Given the description of an element on the screen output the (x, y) to click on. 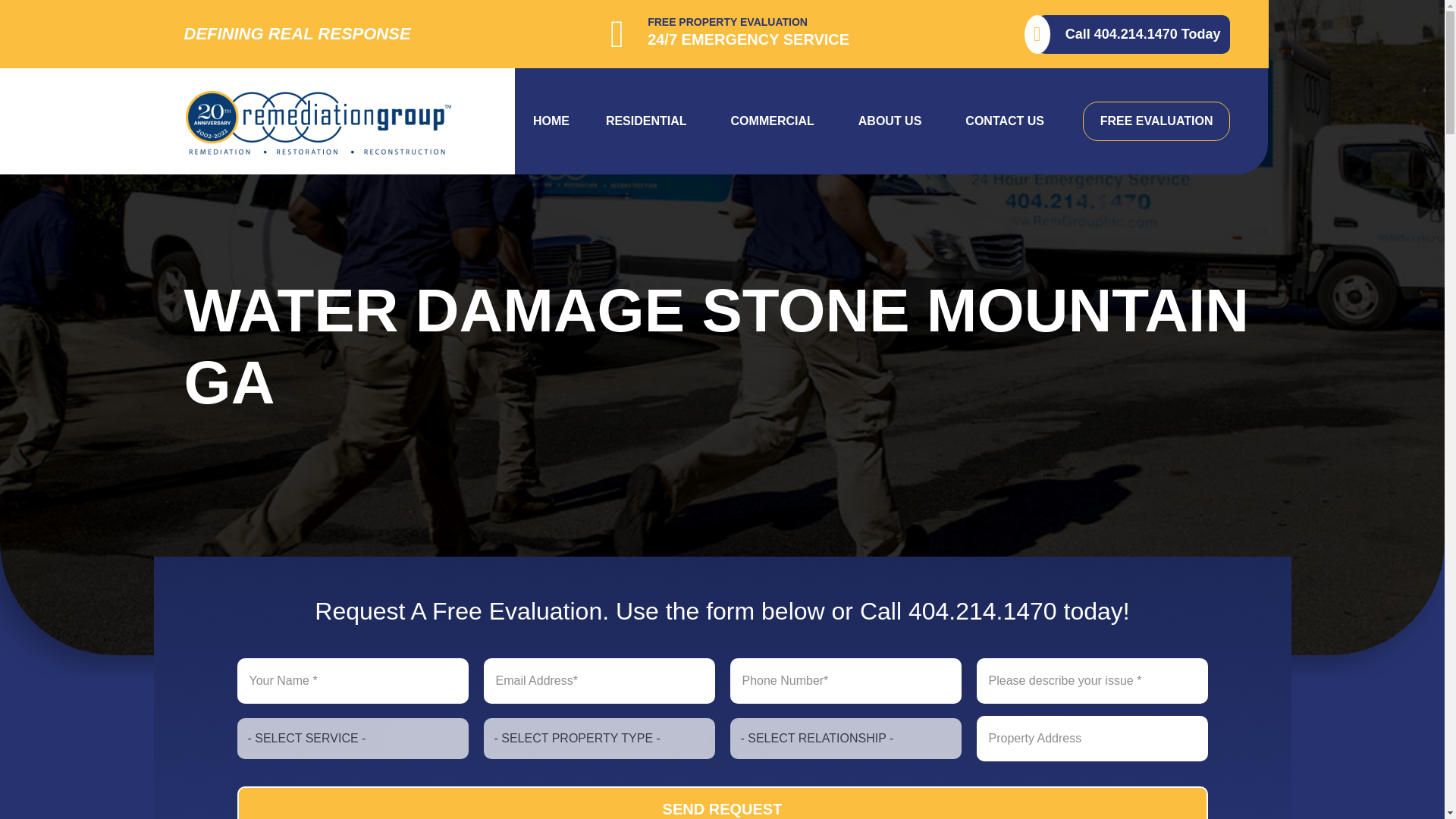
RESIDENTIAL (650, 120)
ABOUT US (893, 120)
COMMERCIAL (776, 120)
CONTACT US (1008, 120)
Call 404.214.1470 Today (1133, 34)
